Given the description of an element on the screen output the (x, y) to click on. 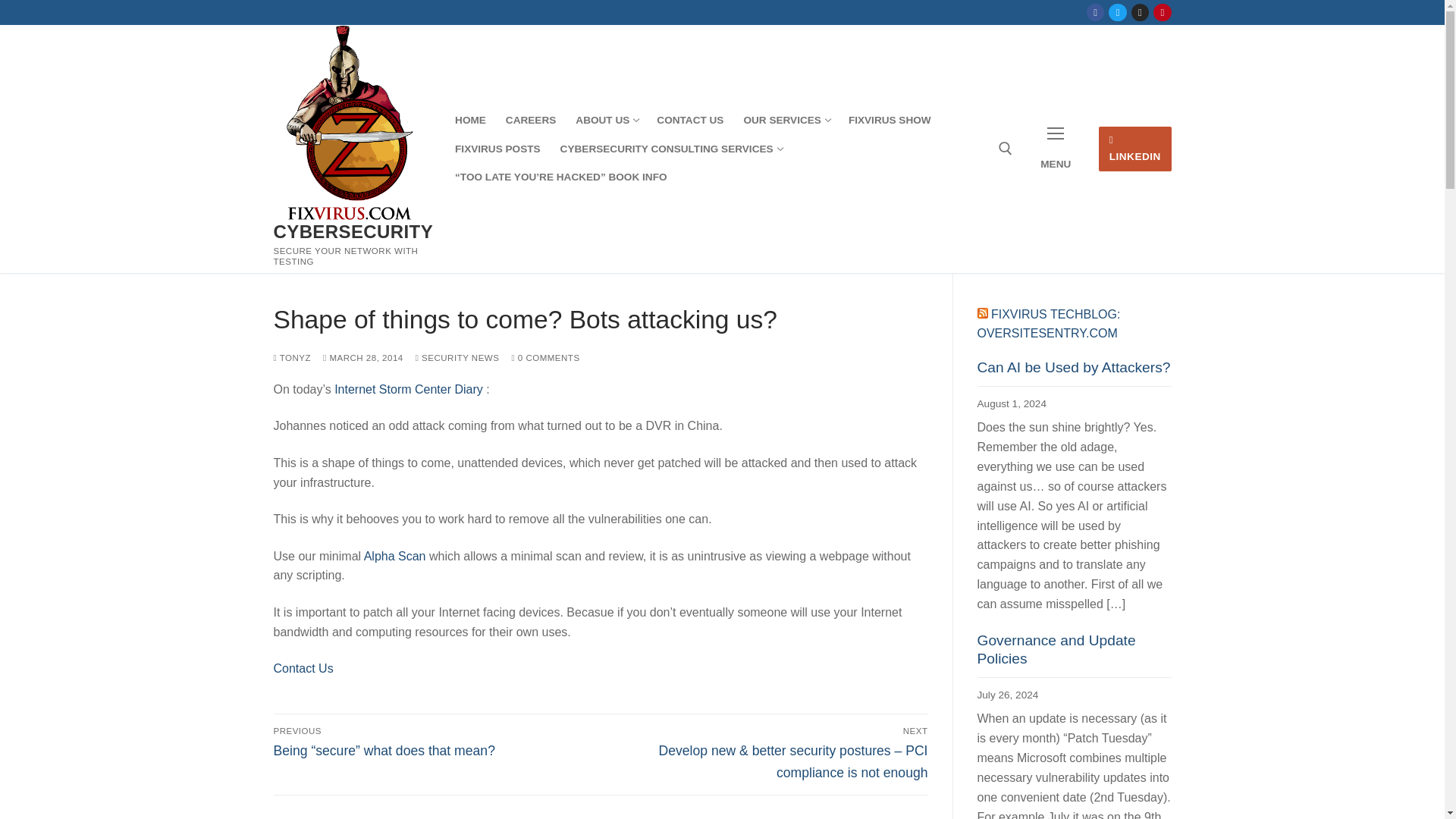
FIXVIRUS SHOW (889, 120)
CAREERS (785, 120)
HOME (531, 120)
MENU (470, 120)
FIXVIRUS POSTS (606, 120)
Pinterest (1055, 148)
CONTACT US (497, 149)
LINKEDIN (1162, 12)
Instagram (689, 120)
Twitter (1134, 148)
CYBERSECURITY (670, 149)
Facebook (1139, 12)
